Given the description of an element on the screen output the (x, y) to click on. 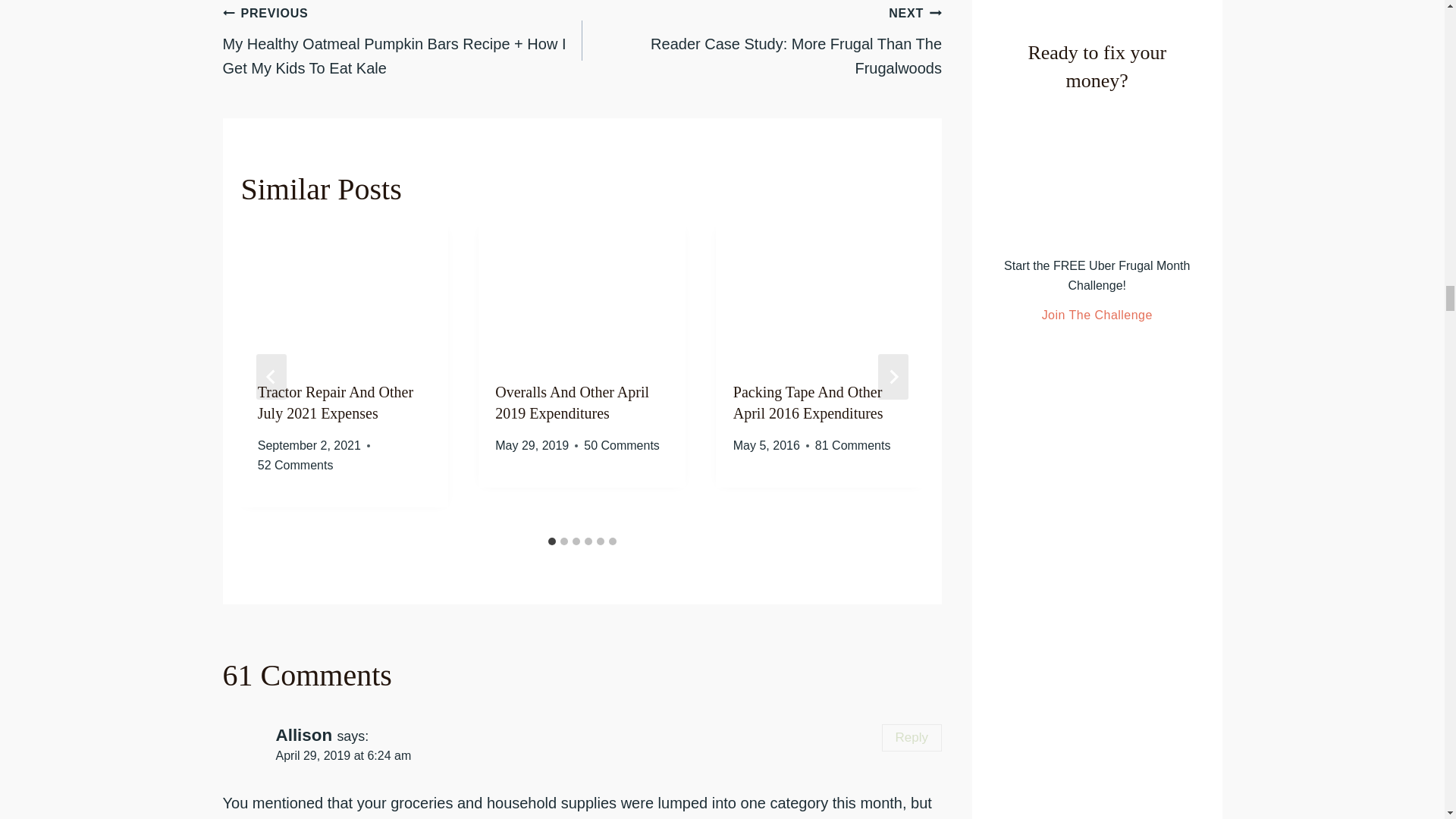
81 Comments (853, 445)
50 Comments (621, 445)
52 Comments (295, 465)
